Given the description of an element on the screen output the (x, y) to click on. 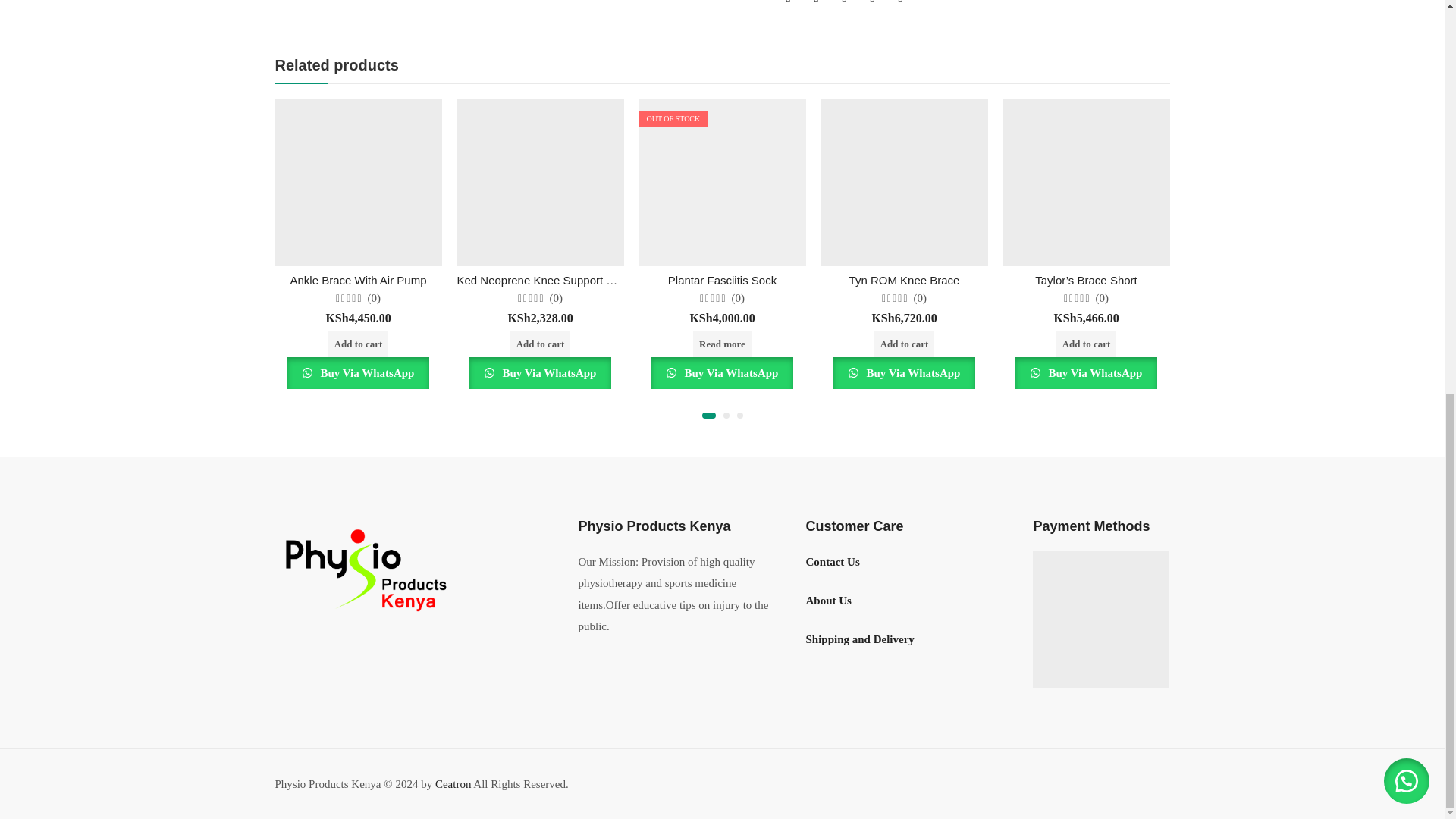
Complete order on WhatsApp to buy Ankle Brace With Air Pump (357, 373)
Complete order on WhatsApp to buy Plantar Fasciitis Sock (721, 373)
Complete order on WhatsApp to buy Tyn ROM Knee Brace (903, 373)
Complete order on WhatsApp to buy Taylor's Brace Short (1085, 373)
